Given the description of an element on the screen output the (x, y) to click on. 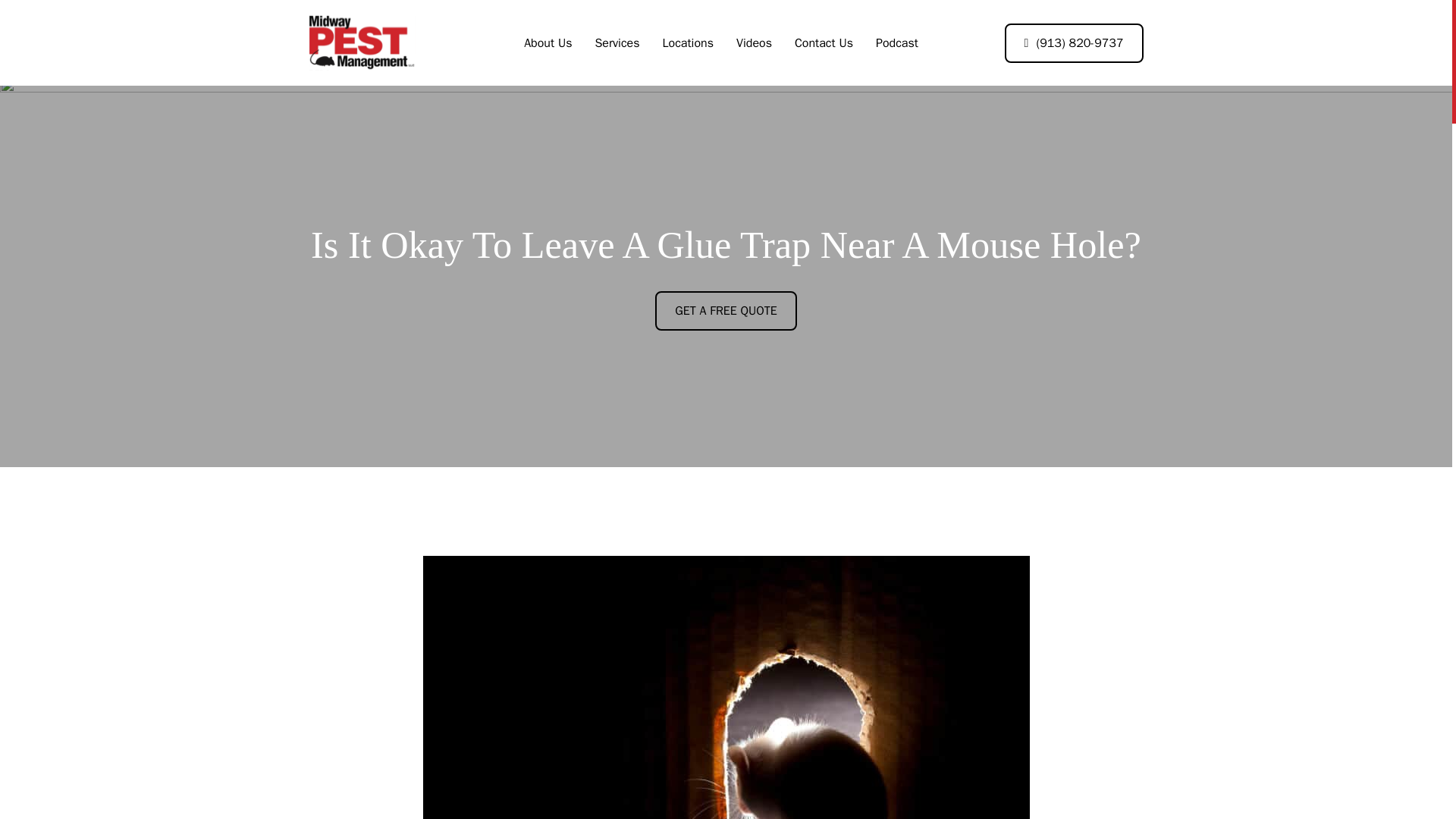
Videos (753, 43)
Services (616, 43)
Contact Us (823, 43)
Podcast (897, 43)
About Us (548, 43)
Locations (687, 43)
